Given the description of an element on the screen output the (x, y) to click on. 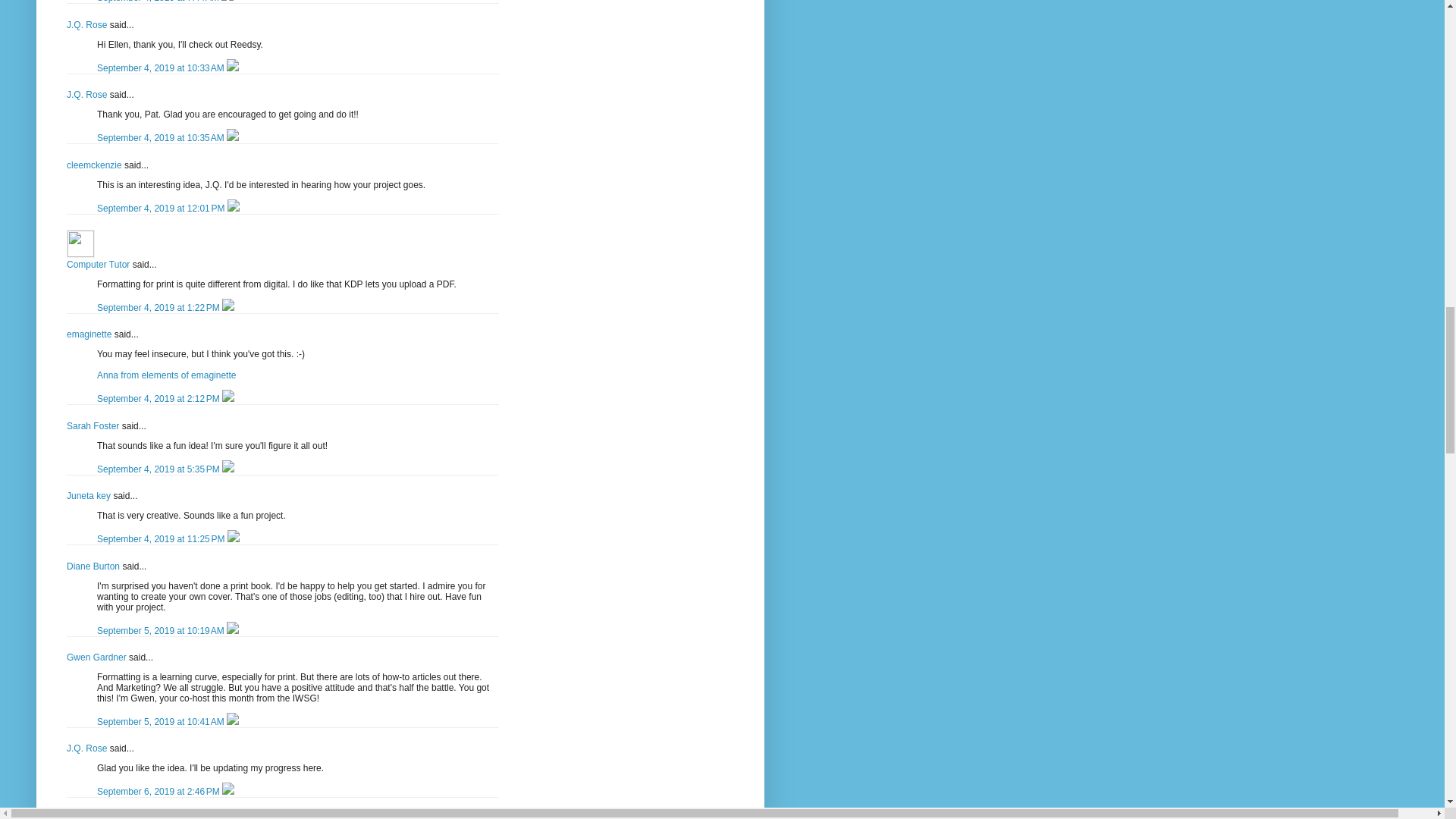
Delete Comment (226, 1)
J.Q. Rose (86, 24)
comment permalink (162, 68)
comment permalink (159, 1)
